Given the description of an element on the screen output the (x, y) to click on. 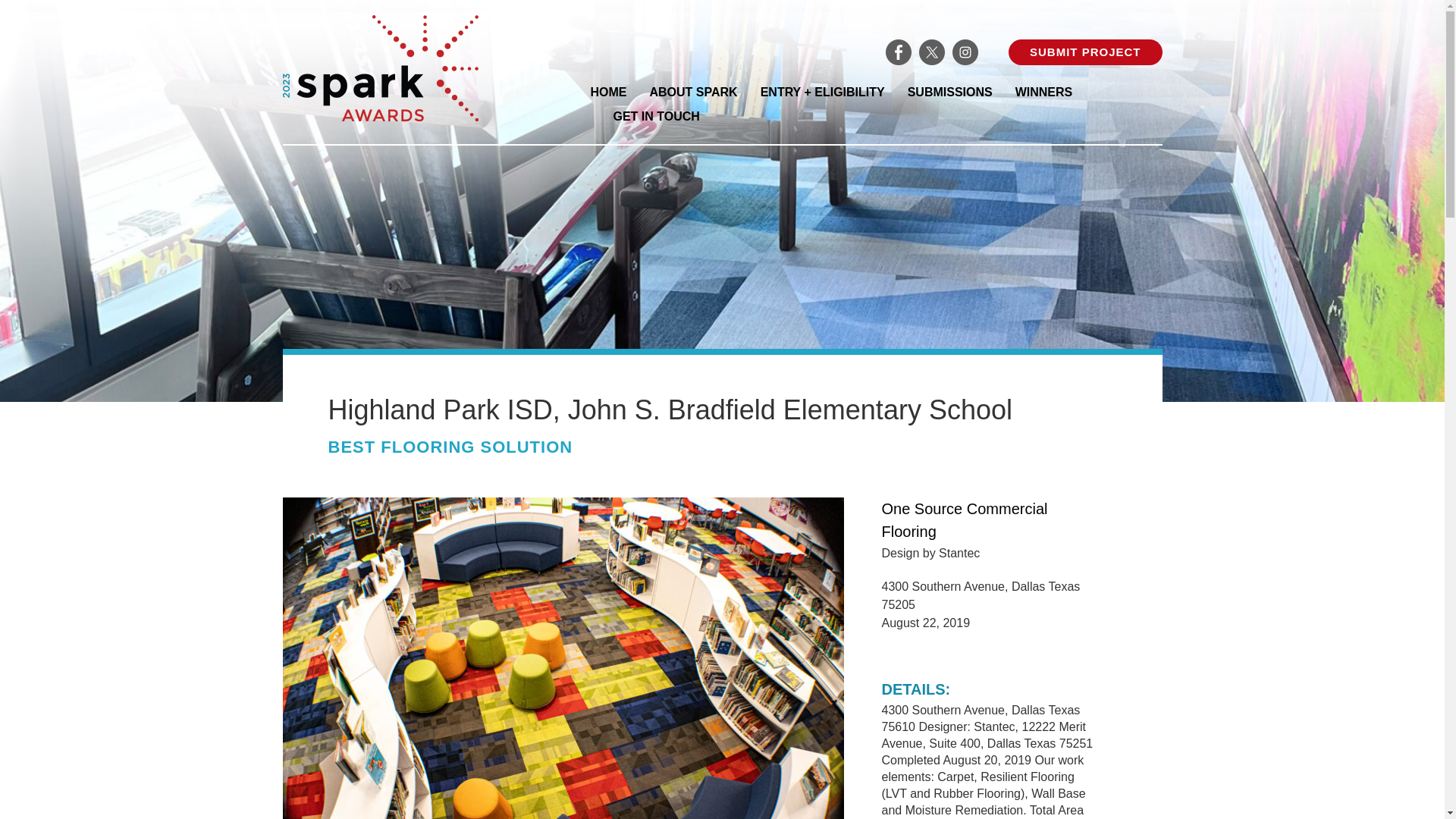
WINNERS (1043, 92)
Instagram (965, 52)
Facebook (898, 52)
Twitter (931, 52)
ABOUT SPARK (692, 92)
GET IN TOUCH (655, 116)
HOME (607, 92)
SUBMISSIONS (949, 92)
SUBMIT PROJECT (1085, 52)
